Given the description of an element on the screen output the (x, y) to click on. 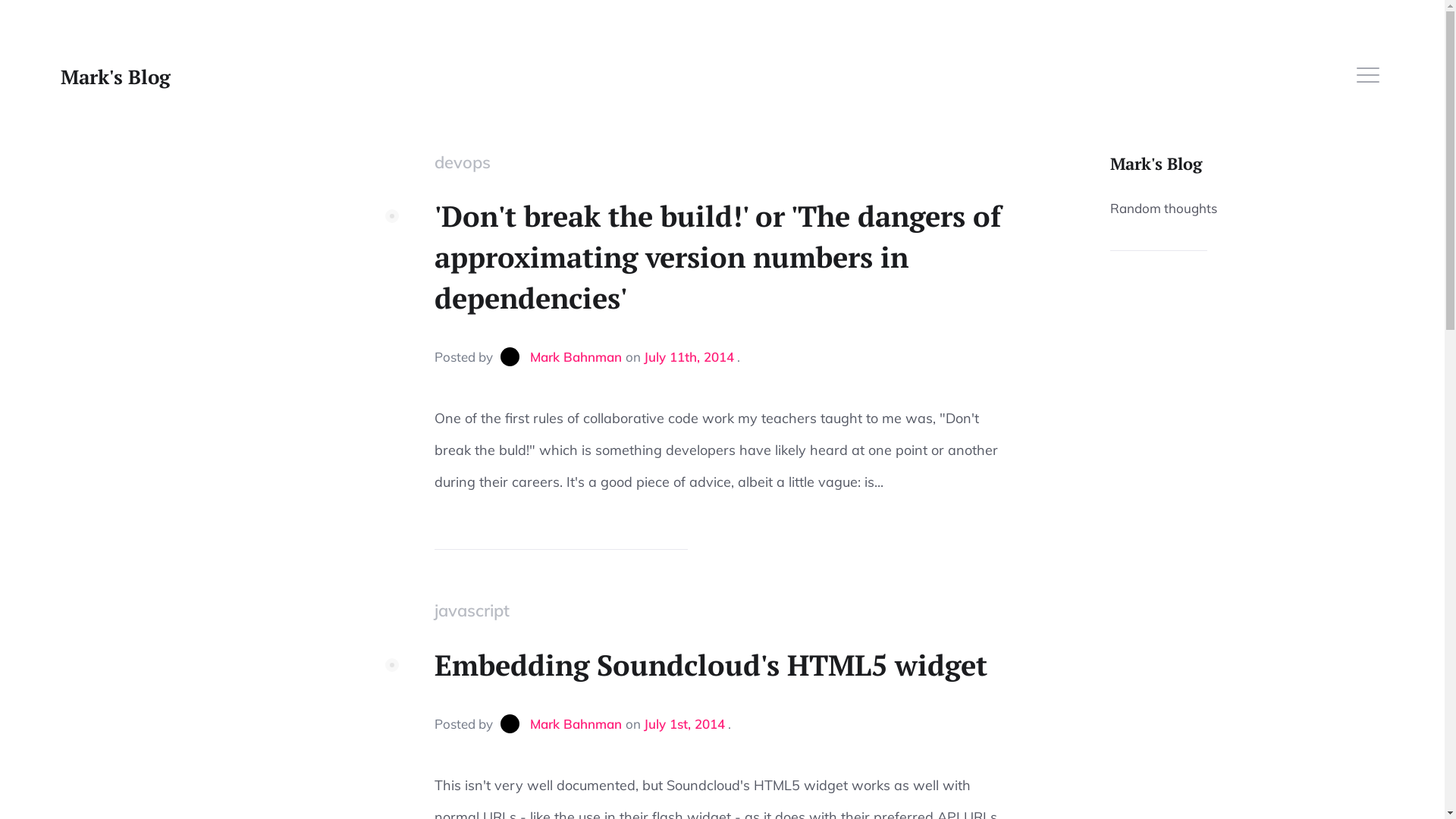
Mark's Blog Element type: text (1155, 163)
Mark Bahnman Element type: text (560, 356)
Embedding Soundcloud's HTML5 widget Element type: text (721, 664)
July 1st, 2014 Element type: text (683, 723)
Mark Bahnman Element type: text (560, 723)
devops Element type: text (461, 161)
July 11th, 2014 Element type: text (688, 356)
Mark's Blog Element type: text (115, 76)
javascript Element type: text (470, 610)
